Given the description of an element on the screen output the (x, y) to click on. 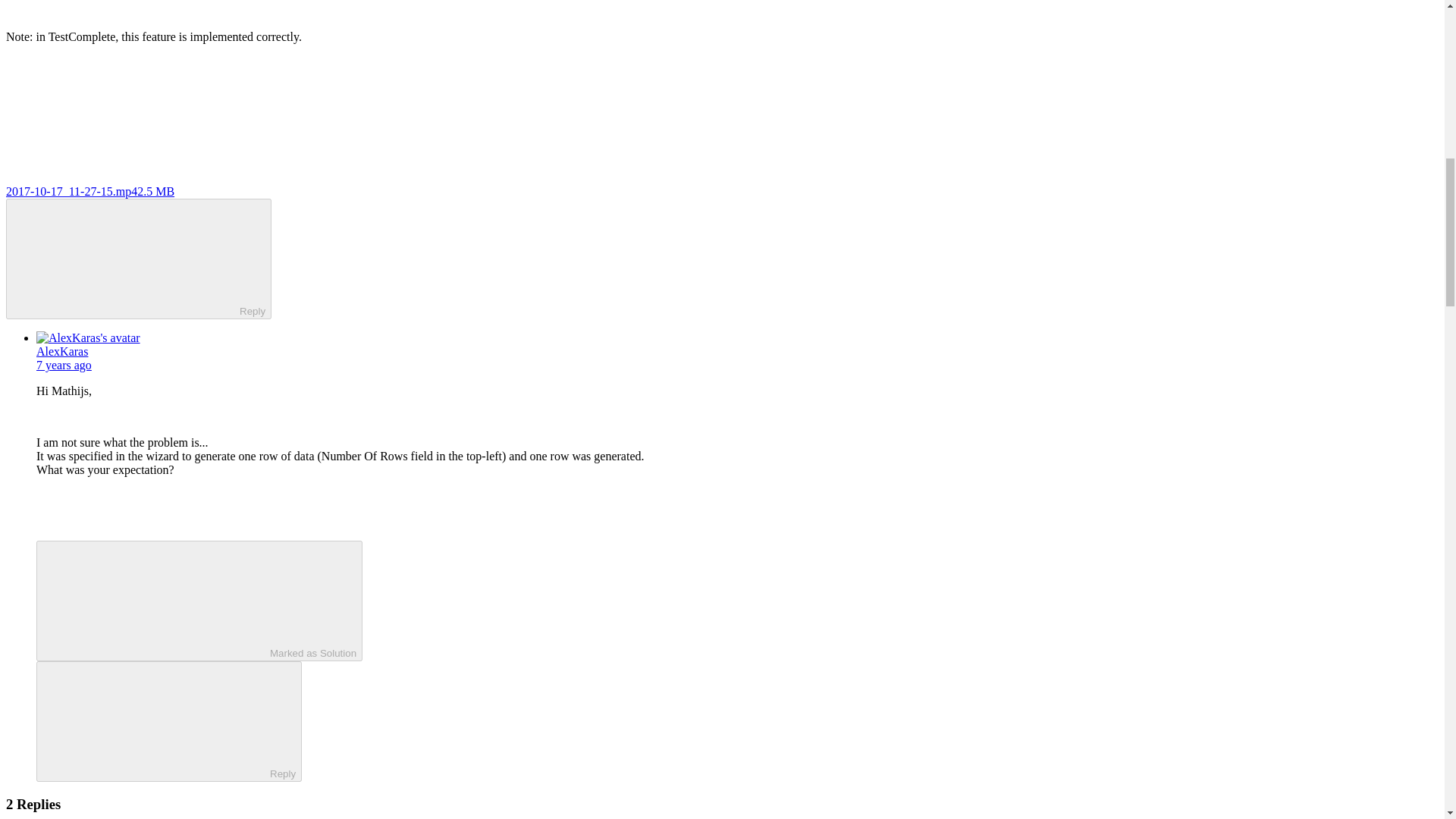
Reply (155, 720)
October 18, 2017 at 8:42 AM (63, 364)
ReplyReply (137, 259)
AlexKaras (61, 350)
7 years ago (63, 364)
Marked as Solution (199, 600)
Reply (125, 257)
ReplyReply (168, 721)
